Given the description of an element on the screen output the (x, y) to click on. 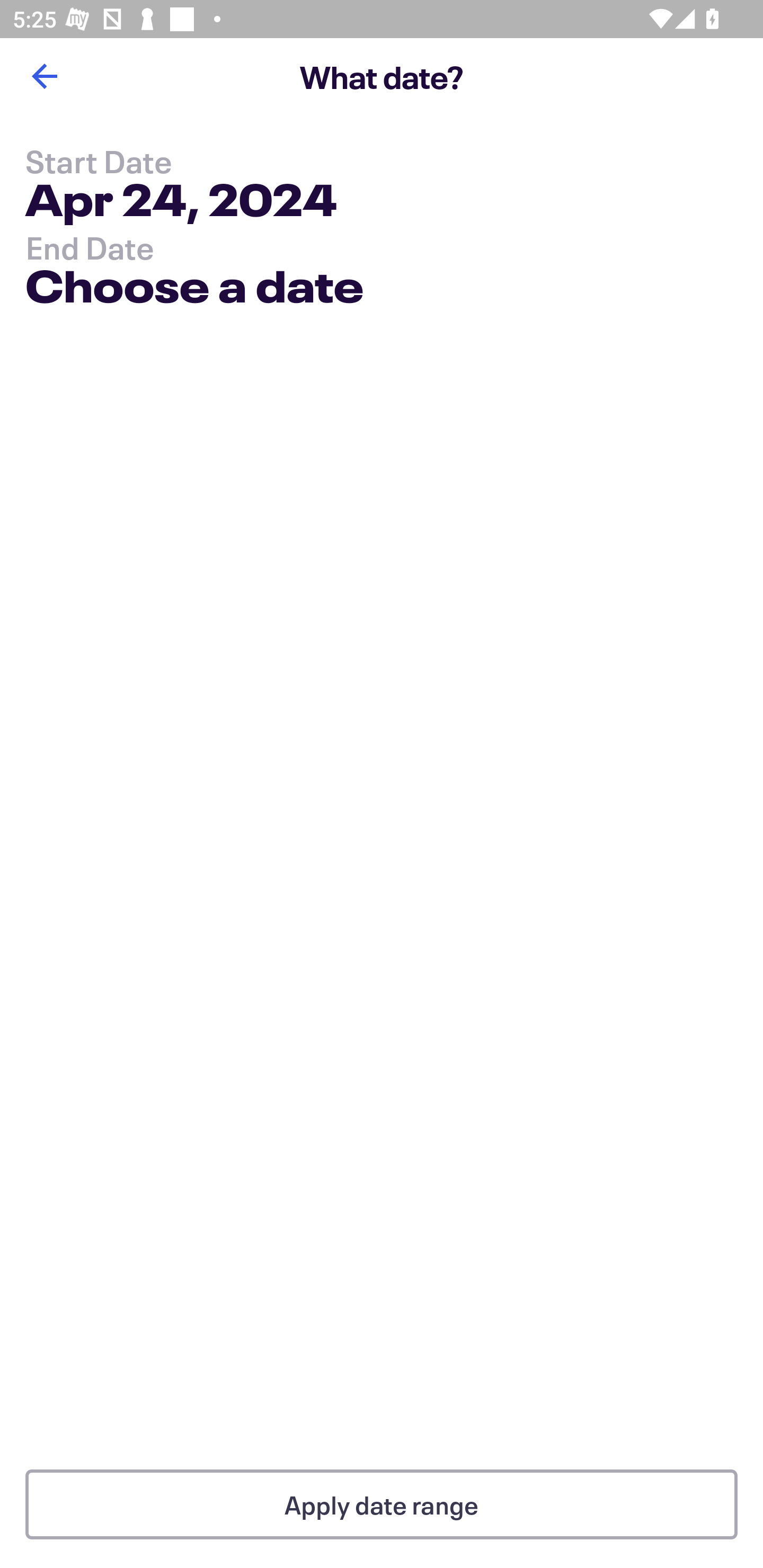
Back button (44, 75)
Apr 24, 2024 (181, 203)
Choose a date (194, 289)
Apply date range (381, 1504)
